Given the description of an element on the screen output the (x, y) to click on. 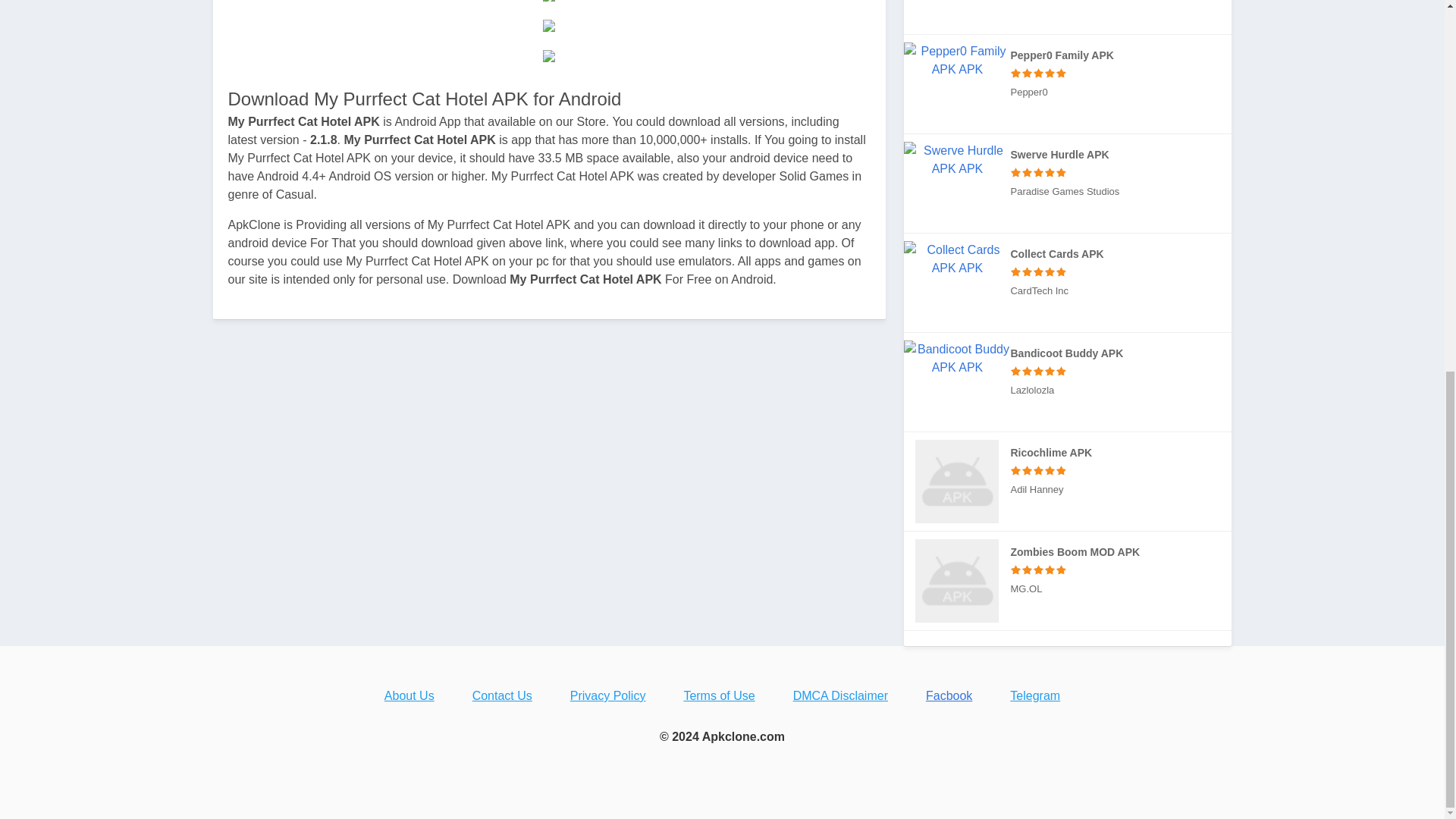
Gacha Luminals APK APK (1067, 17)
